Given the description of an element on the screen output the (x, y) to click on. 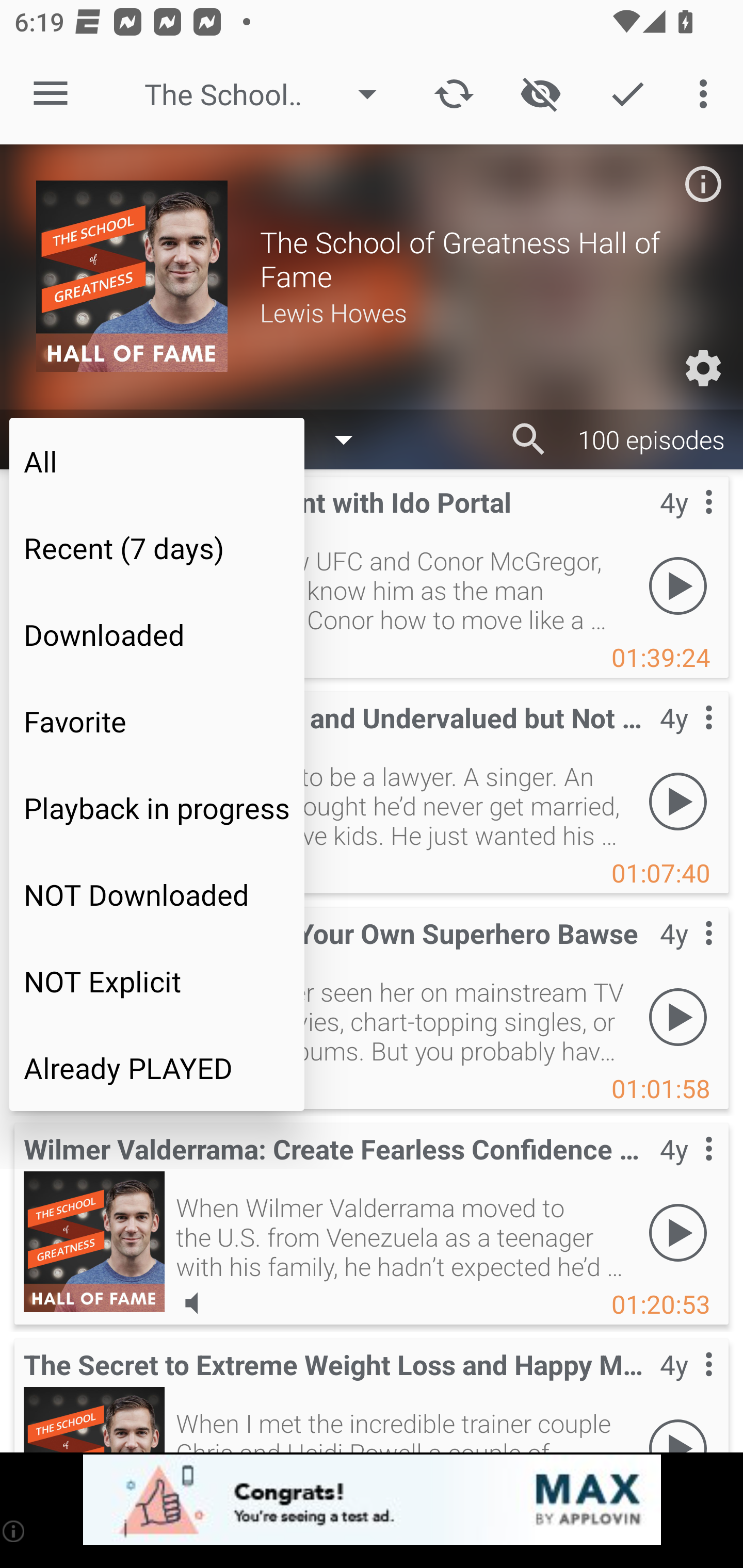
All (156, 460)
Recent (7 days) (156, 547)
Downloaded (156, 634)
Favorite (156, 721)
Playback in progress (156, 808)
NOT Downloaded (156, 894)
NOT Explicit (156, 980)
Already PLAYED (156, 1067)
